Given the description of an element on the screen output the (x, y) to click on. 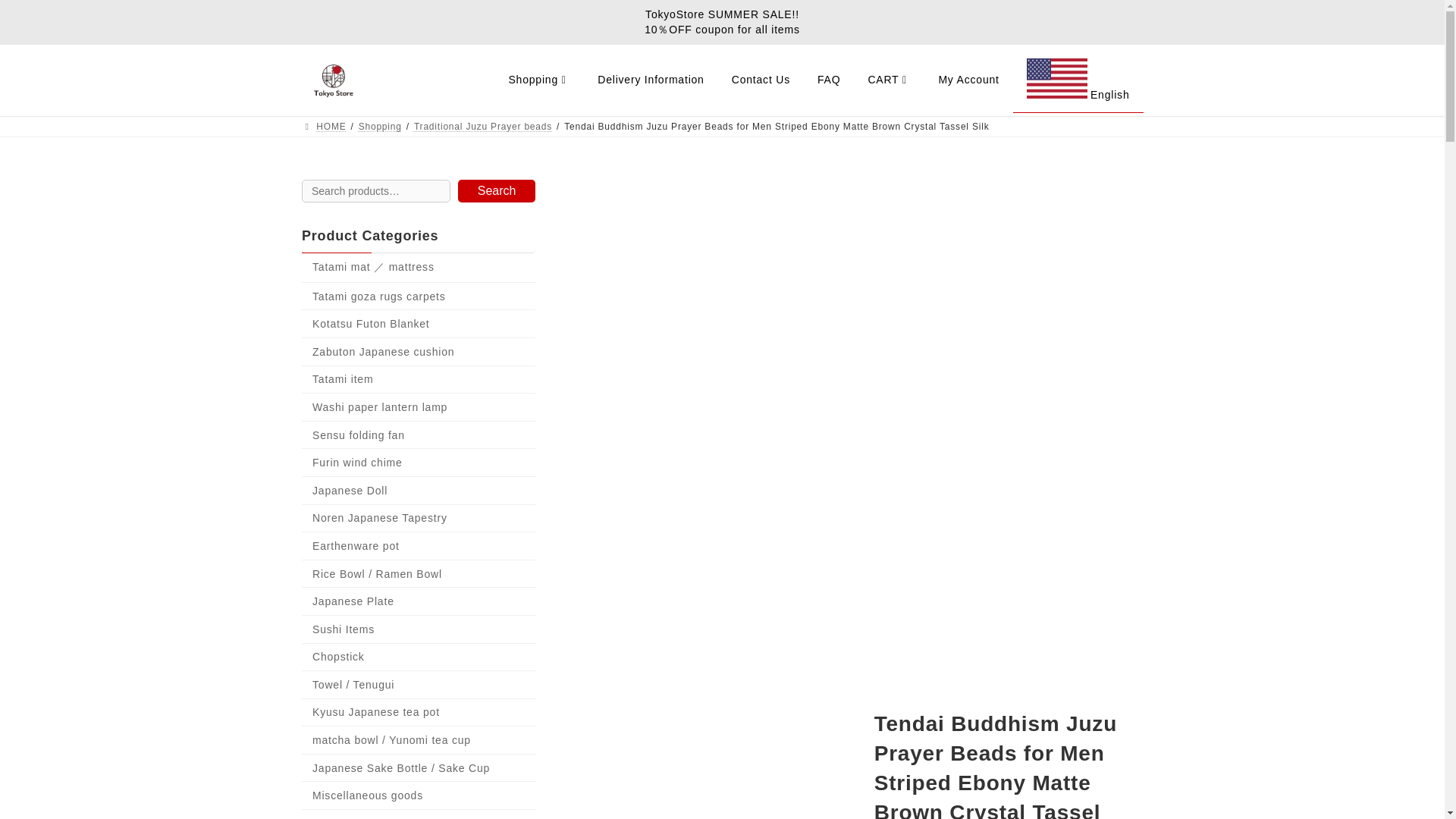
Delivery Information (650, 80)
My Account (967, 80)
HOME (323, 126)
Search (496, 190)
Shopping (539, 80)
CART (888, 80)
English (1077, 80)
Shopping (379, 126)
Traditional Juzu Prayer beads (482, 126)
Tatami item (418, 379)
Tatami goza rugs carpets (418, 296)
English (1077, 80)
Contact Us (760, 80)
Zabuton Japanese cushion (418, 352)
Kotatsu Futon Blanket (418, 324)
